Given the description of an element on the screen output the (x, y) to click on. 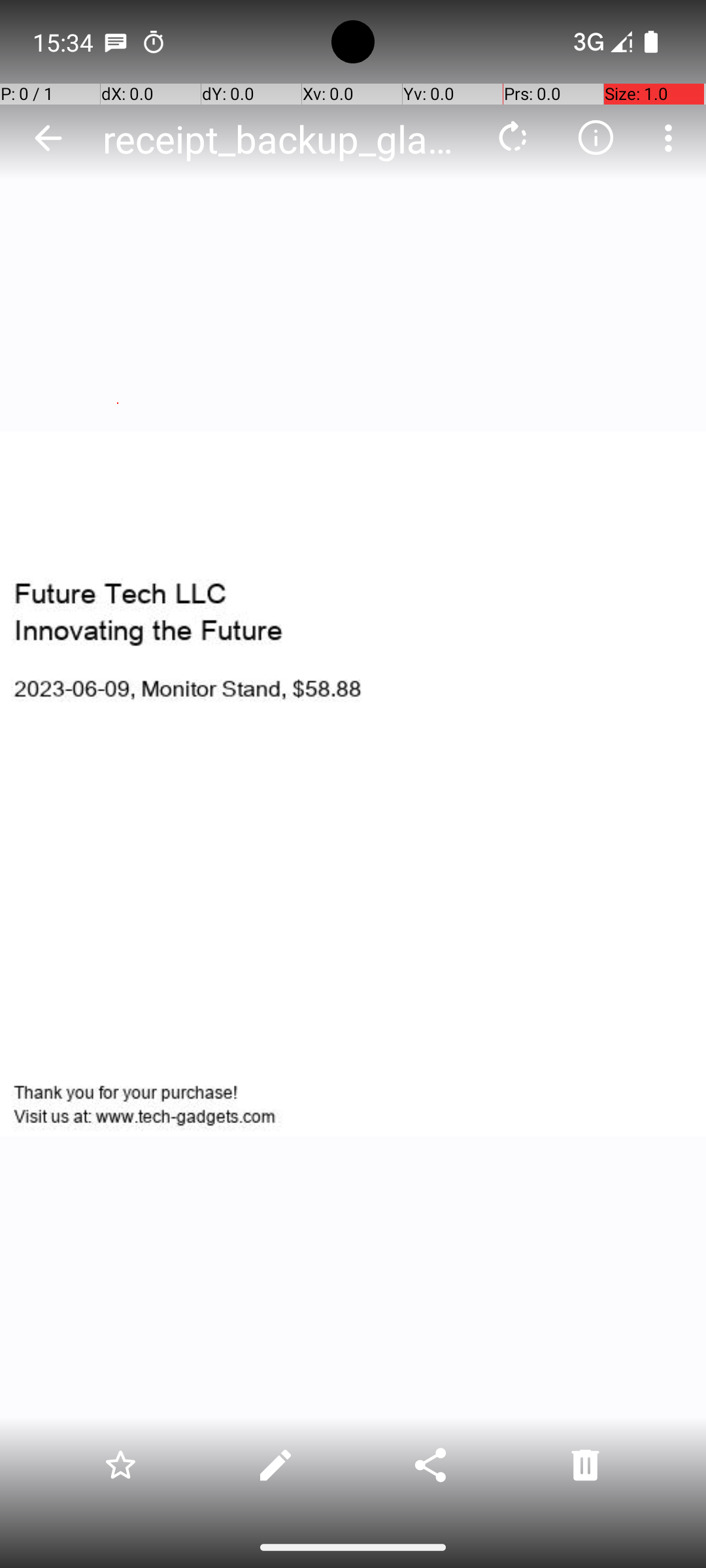
receipt_backup_glad_fox.jpg Element type: android.widget.TextView (283, 138)
Toggle favorite Element type: android.widget.ImageView (120, 1464)
